Given the description of an element on the screen output the (x, y) to click on. 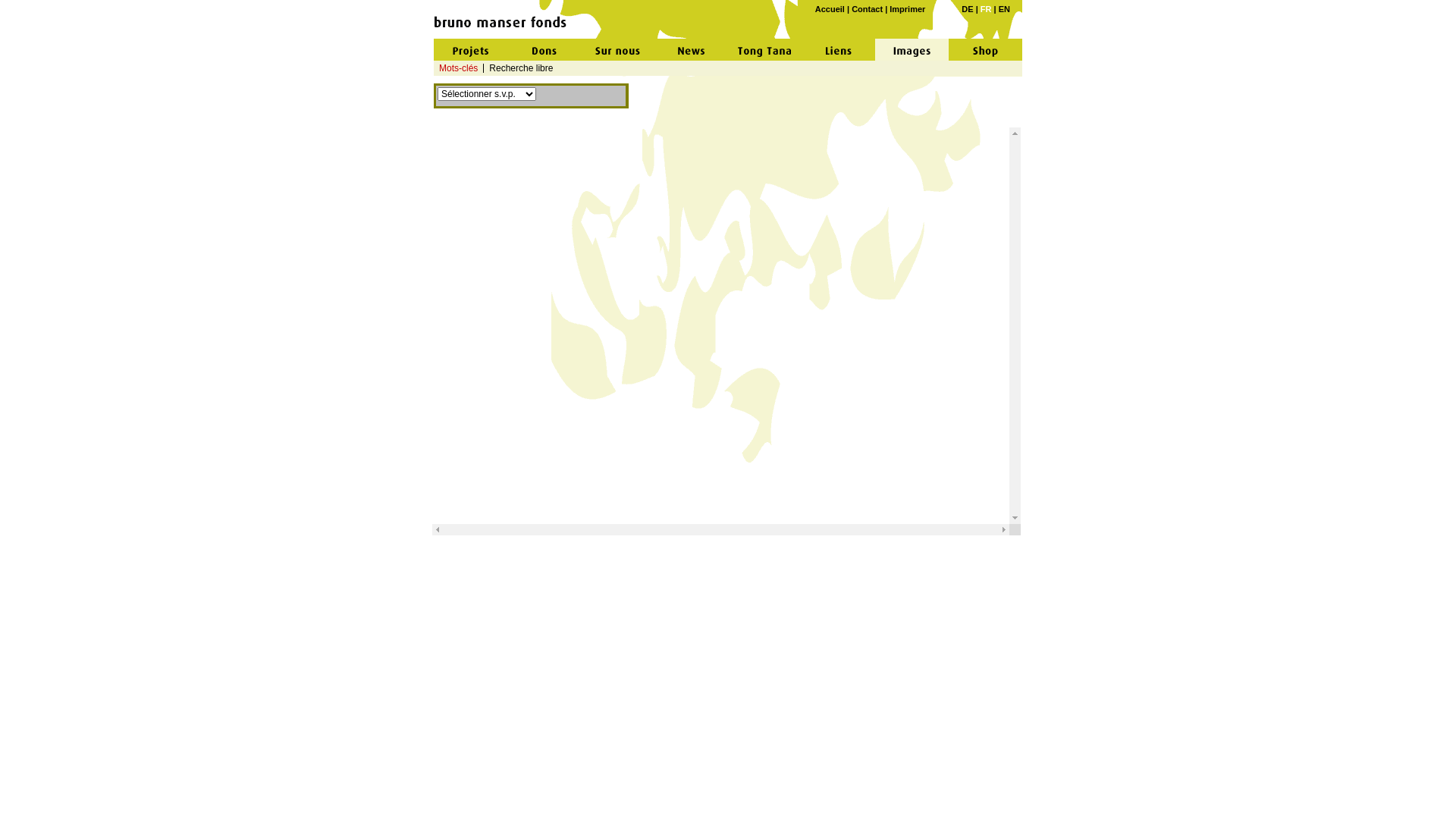
Imprimer Element type: text (907, 8)
Accueil Element type: text (829, 8)
Contact Element type: text (866, 8)
EN Element type: text (1004, 8)
Shop Element type: hover (985, 49)
Projets Element type: hover (470, 49)
Sur nous Element type: hover (617, 49)
Tong Tana Element type: hover (764, 49)
News Element type: hover (691, 49)
FR Element type: text (985, 8)
DE Element type: text (966, 8)
Recherche libre Element type: text (520, 67)
Images Element type: hover (911, 49)
Dons Element type: hover (543, 49)
Archive Element type: hover (838, 49)
